Given the description of an element on the screen output the (x, y) to click on. 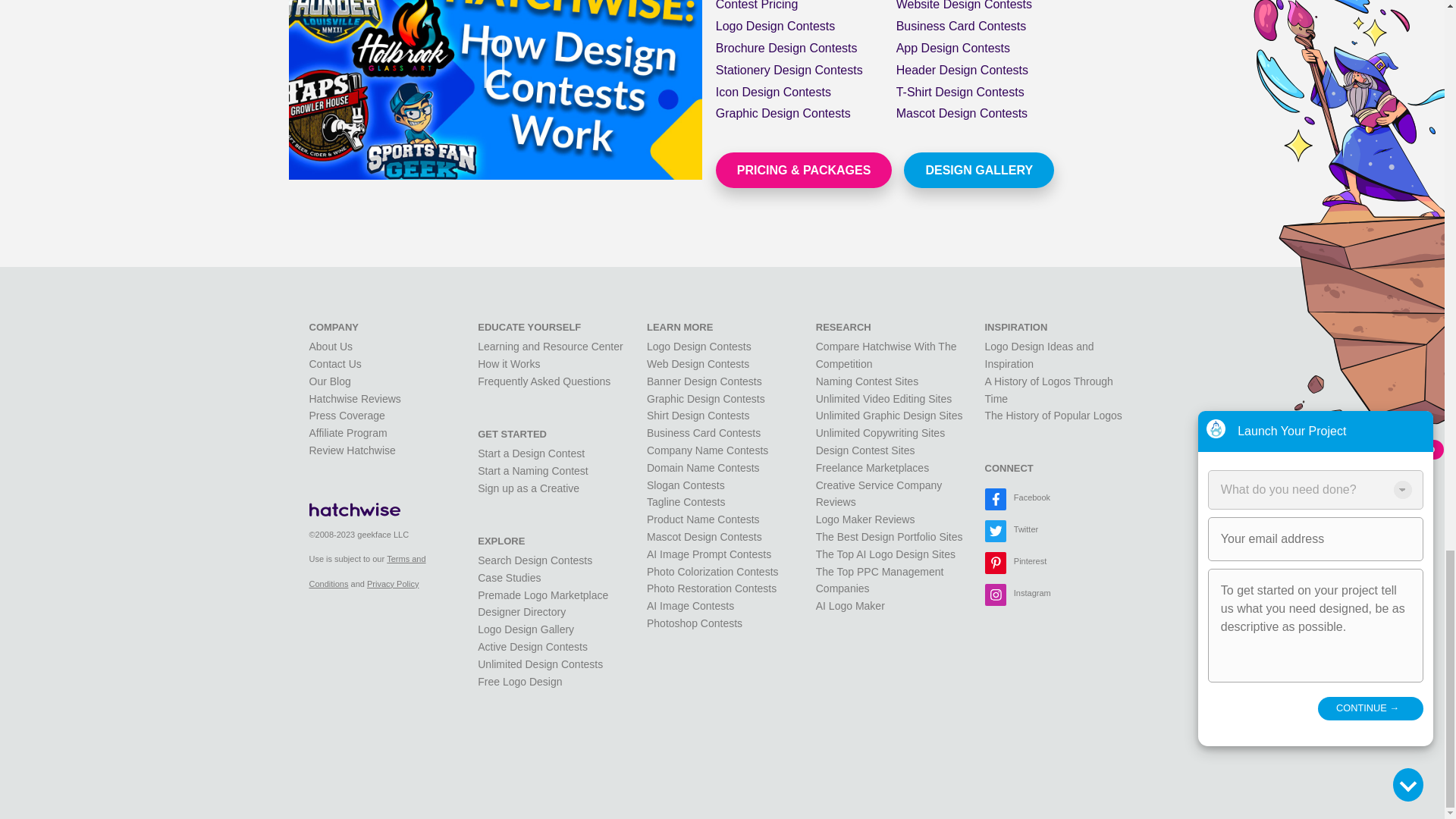
Website Design Contests (964, 5)
Icon Design Contests (773, 91)
Header Design Contests (961, 69)
Brochure Design Contests (786, 47)
Logo Design Contests (775, 25)
Business Card Contests (961, 25)
App Design Contests (953, 47)
Stationery Design Contests (789, 69)
Graphic Design Contests (783, 113)
Contest Pricing (756, 5)
